Given the description of an element on the screen output the (x, y) to click on. 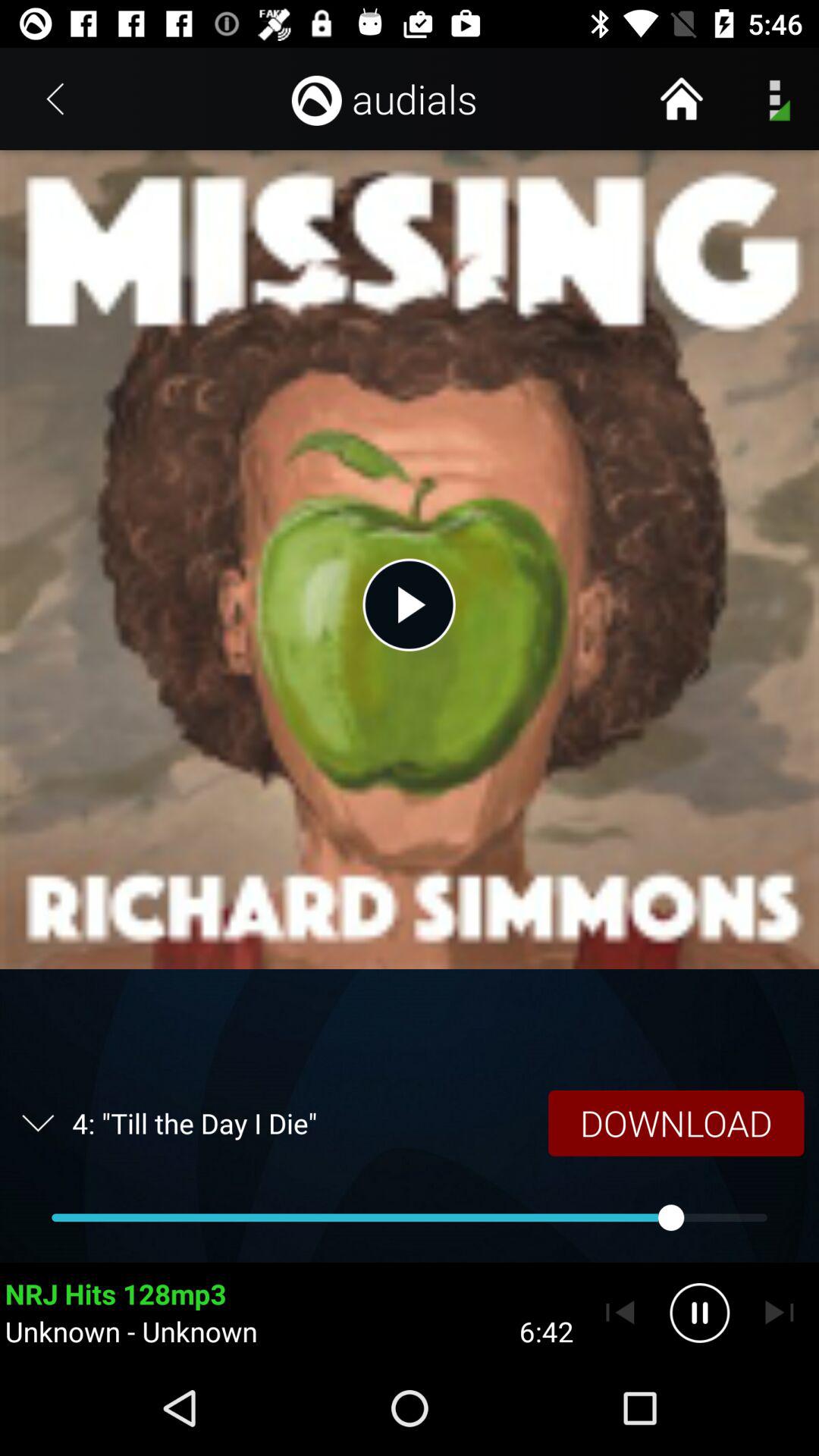
tap icon at the top left corner (55, 98)
